Given the description of an element on the screen output the (x, y) to click on. 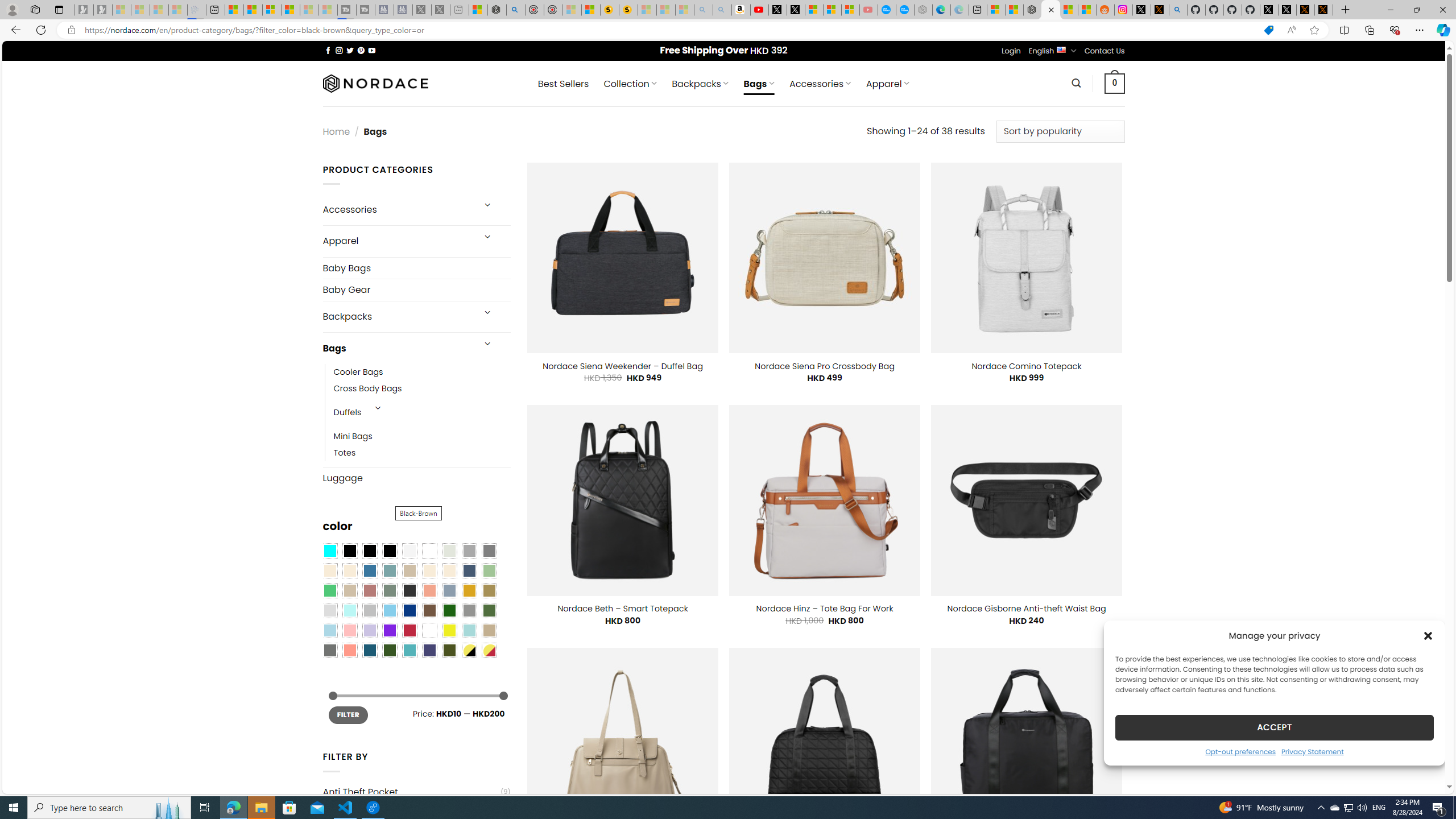
Gray (468, 610)
Follow on YouTube (371, 49)
Blue Sage (389, 570)
Yellow (449, 630)
Forest (389, 649)
Baby Gear (416, 289)
Light Gray (329, 610)
Login (1010, 50)
Aqua (468, 630)
